Given the description of an element on the screen output the (x, y) to click on. 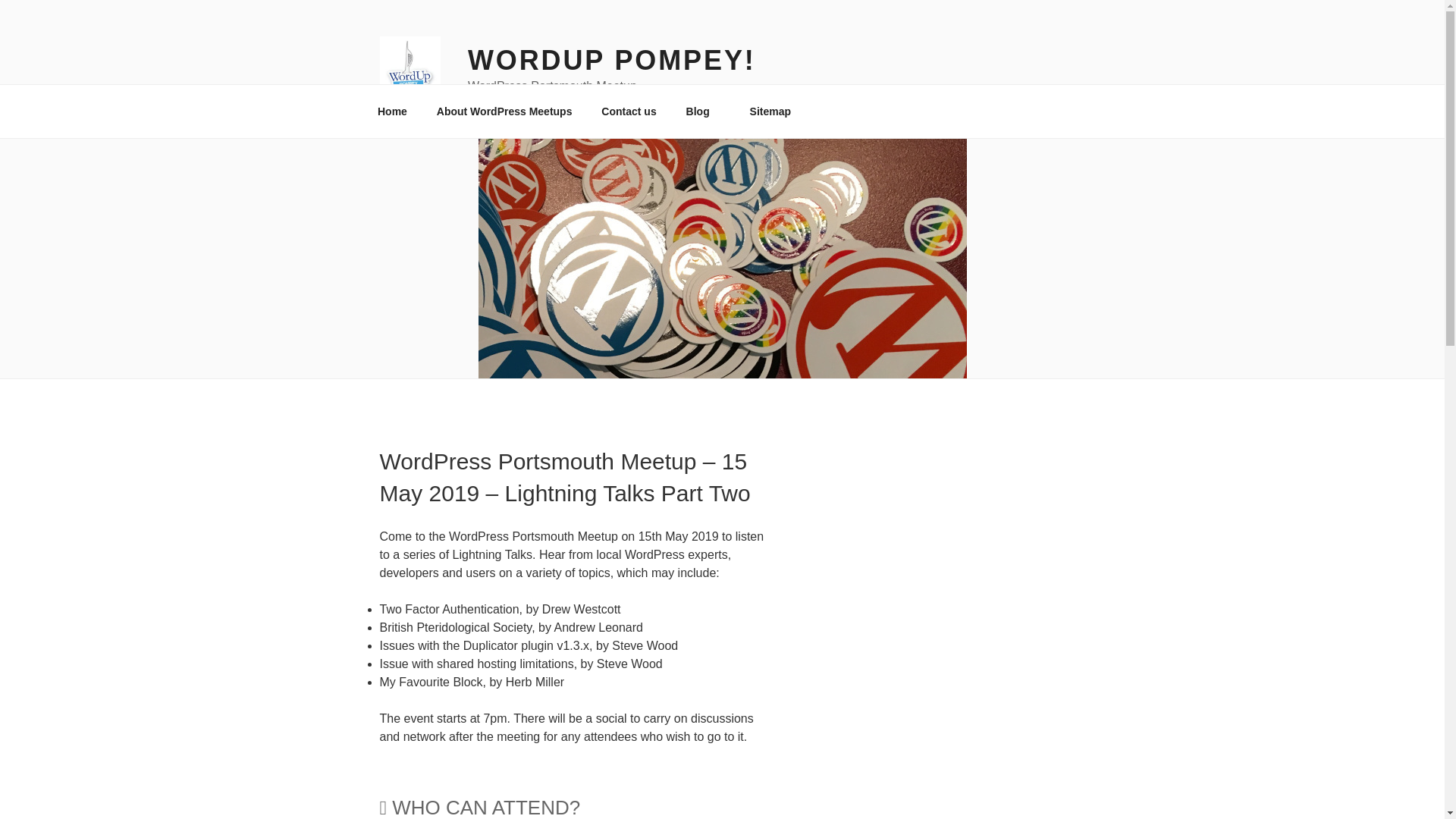
Blog (702, 110)
Home (392, 110)
Contact us (628, 110)
WORDUP POMPEY! (611, 60)
About WordPress Meetups (504, 110)
Sitemap (769, 110)
